Given the description of an element on the screen output the (x, y) to click on. 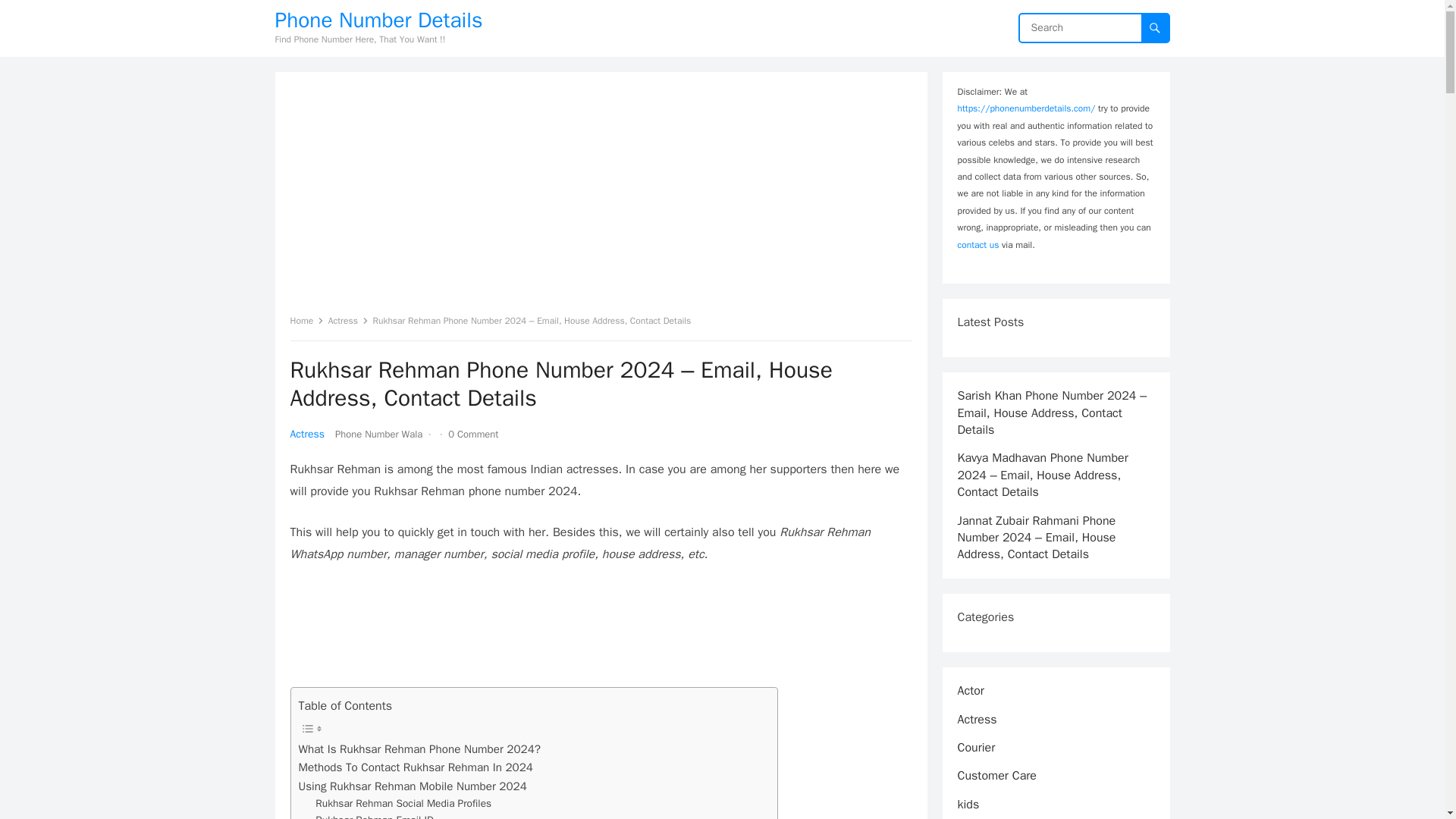
Using Rukhsar Rehman Mobile Number 2024 (412, 786)
Phone Number Wala (378, 433)
Methods To Contact Rukhsar Rehman In 2024 (415, 767)
0 Comment (472, 433)
Methods To Contact Rukhsar Rehman In 2024 (415, 767)
Rukhsar Rehman Social Media Profiles (403, 803)
Actress (306, 433)
Posts by Phone Number Wala (378, 433)
Rukhsar Rehman Email  ID (374, 815)
Actress (348, 320)
